Given the description of an element on the screen output the (x, y) to click on. 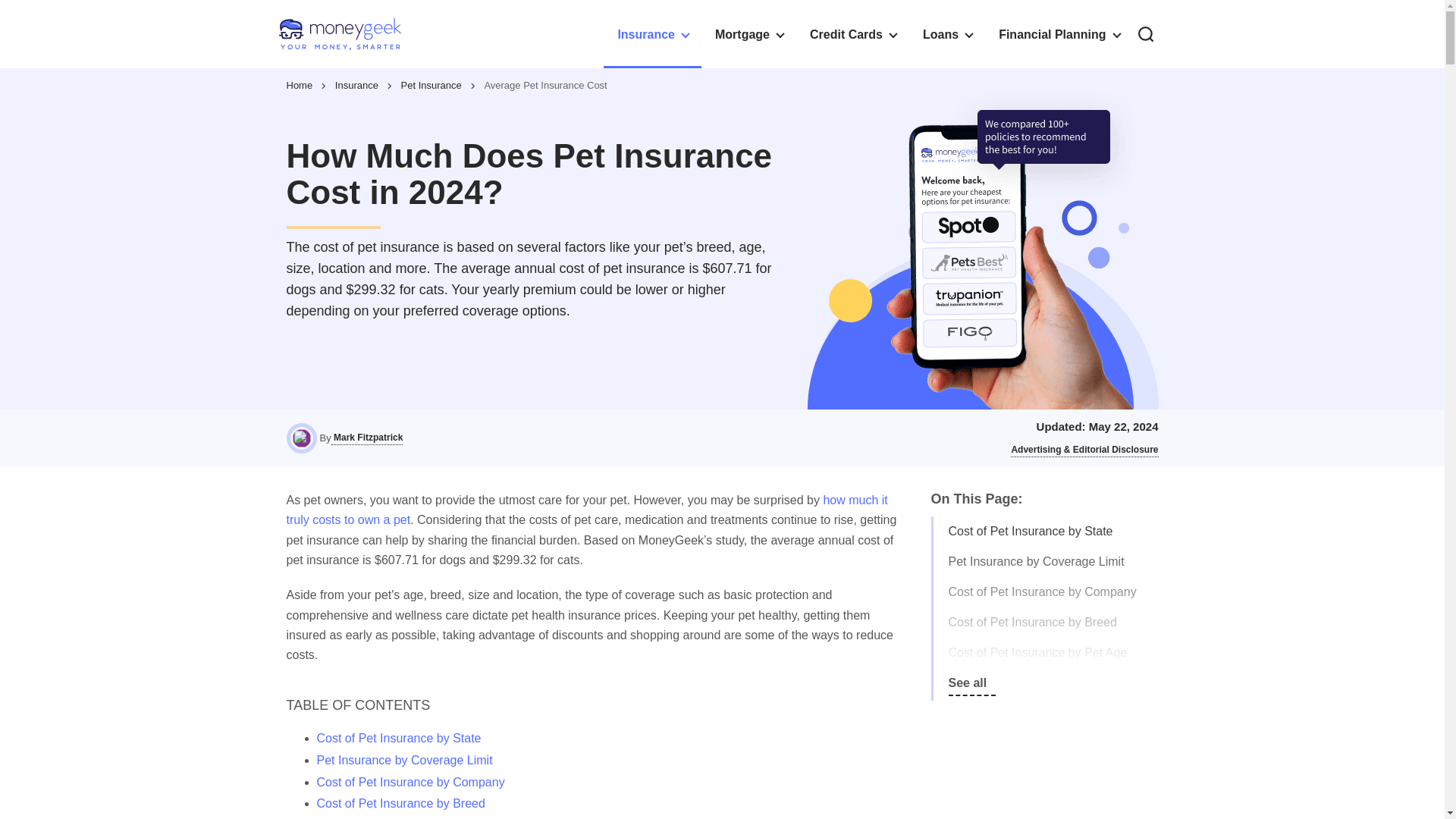
Insurance (652, 33)
Financial Planning (1058, 33)
Credit Cards (852, 33)
Loans (946, 33)
Mortgage (748, 33)
